Given the description of an element on the screen output the (x, y) to click on. 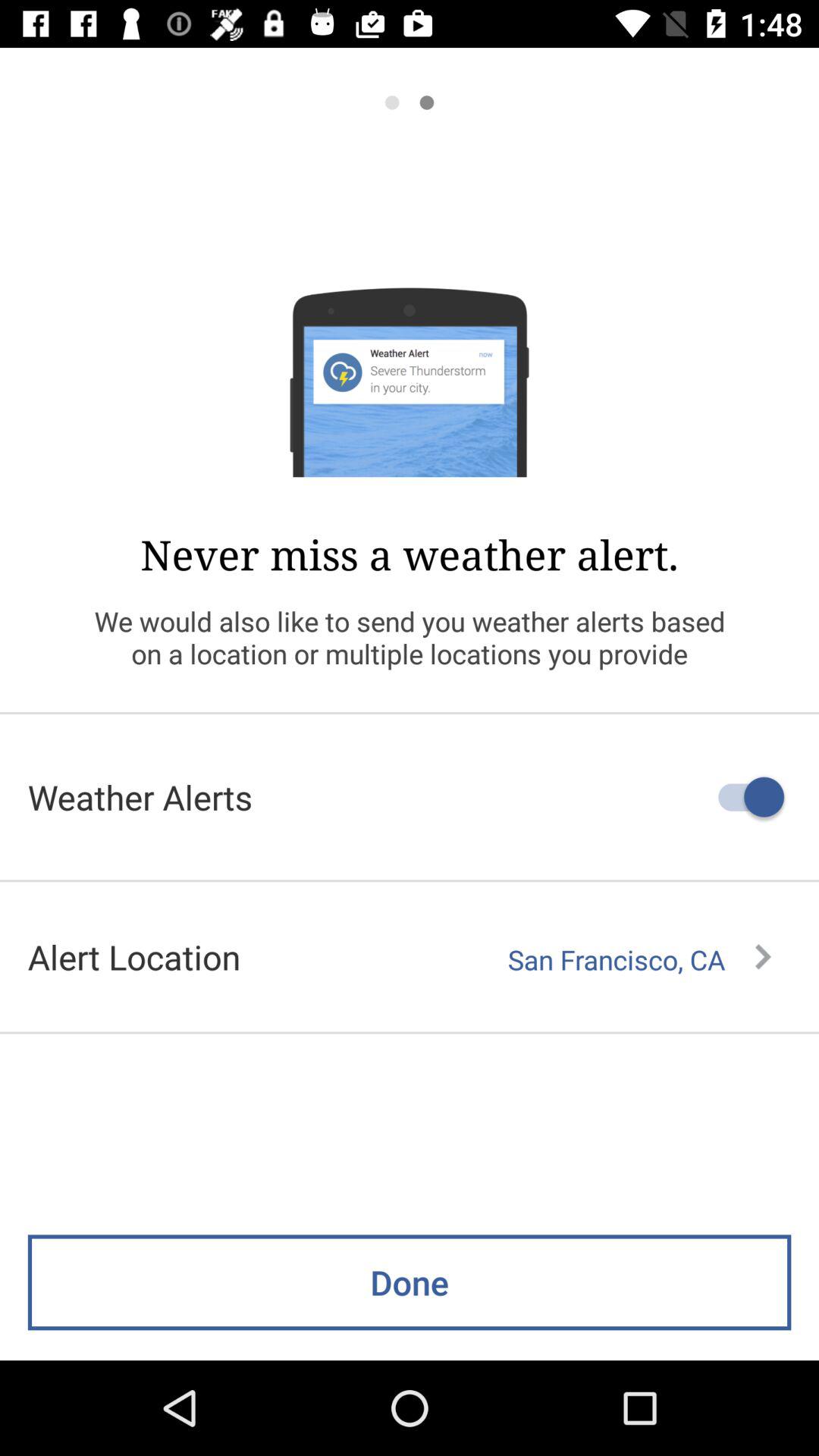
open the item to the right of alert location icon (639, 959)
